Given the description of an element on the screen output the (x, y) to click on. 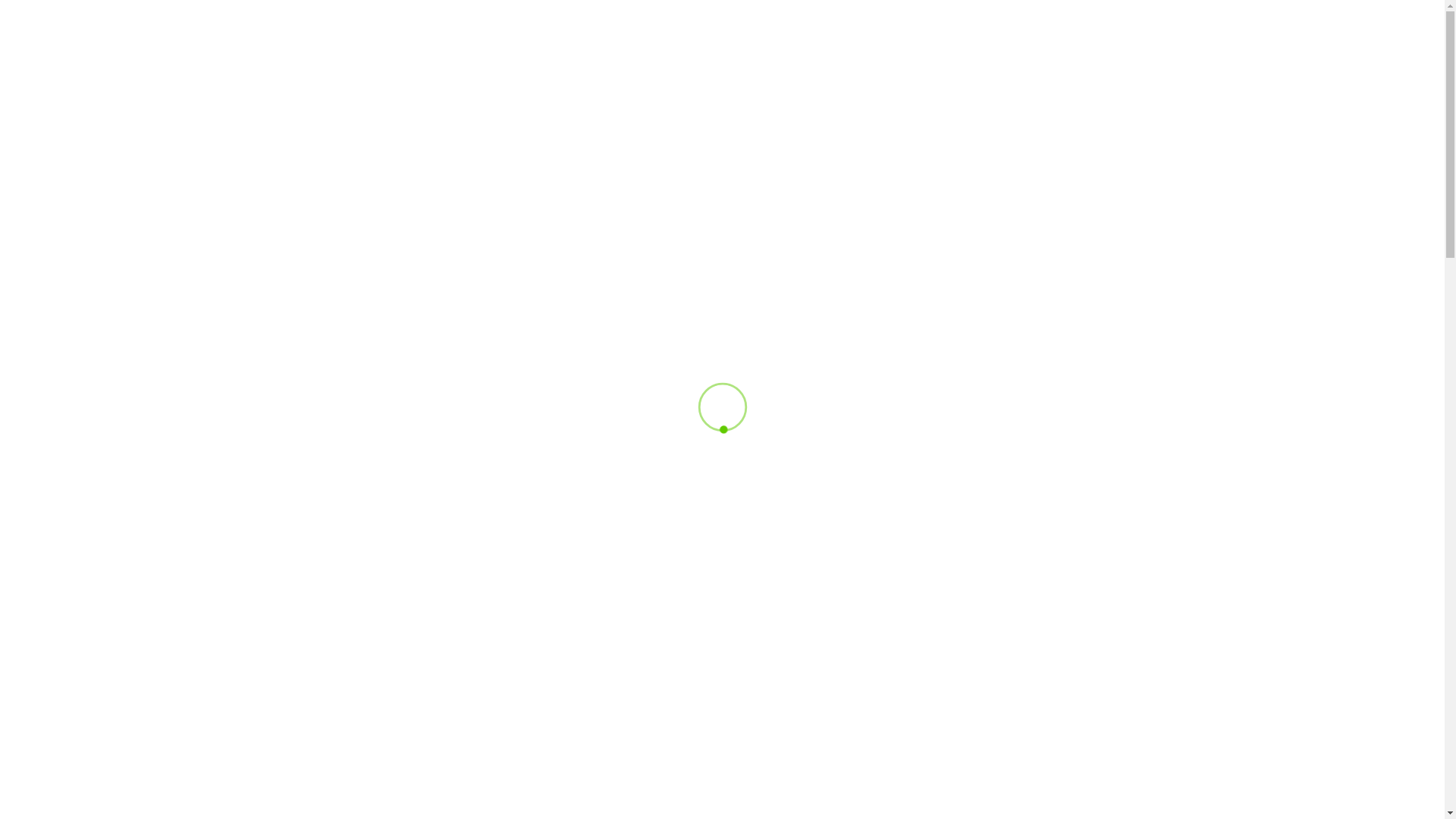
La Structure Element type: text (860, 65)
Chercher Element type: text (930, 564)
La Galerie Element type: text (1386, 65)
Ateliers Element type: text (571, 695)
Nos Infos Pratiques Element type: text (1176, 65)
direction@clocherdevie.be Element type: text (205, 10)
Le Journal Element type: text (1065, 65)
Les Admissions Element type: text (965, 65)
blog Clocher de Vie Element type: hover (367, 711)
Le blog: "Le journal du Clocher de Vie" Element type: text (579, 517)
0 commentaires Element type: text (660, 695)
Le Clocher de Vie Element type: text (393, 695)
Accueil Element type: text (705, 65)
